Given the description of an element on the screen output the (x, y) to click on. 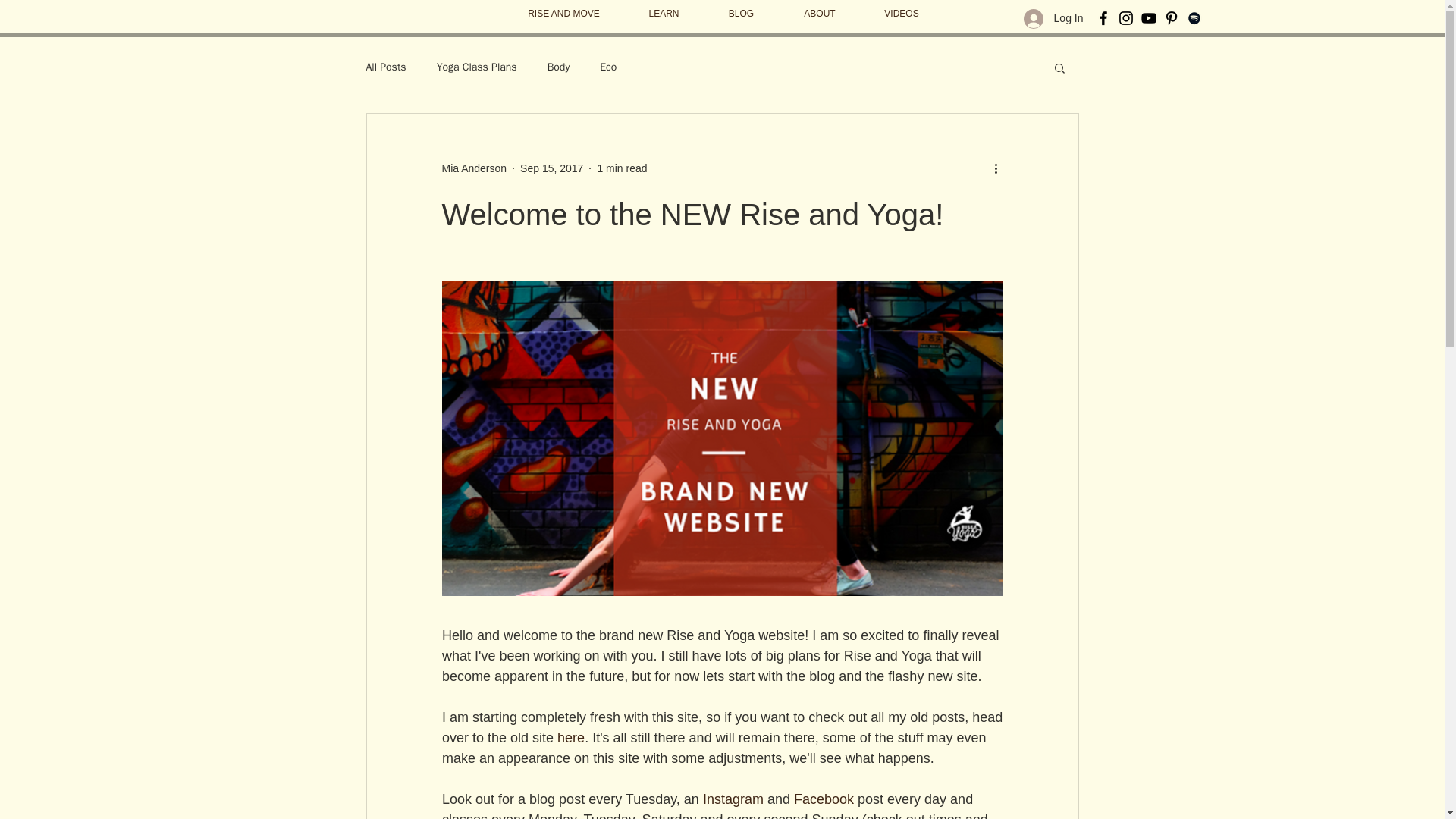
LEARN (663, 13)
Eco (607, 67)
Facebook (823, 798)
here (571, 737)
1 min read (621, 168)
ABOUT (819, 13)
Body (558, 67)
Sep 15, 2017 (551, 168)
RISE AND MOVE (563, 13)
Mia Anderson (473, 168)
Instagram (731, 798)
Mia Anderson (473, 168)
All Posts (385, 67)
VIDEOS (901, 13)
Log In (1053, 18)
